Given the description of an element on the screen output the (x, y) to click on. 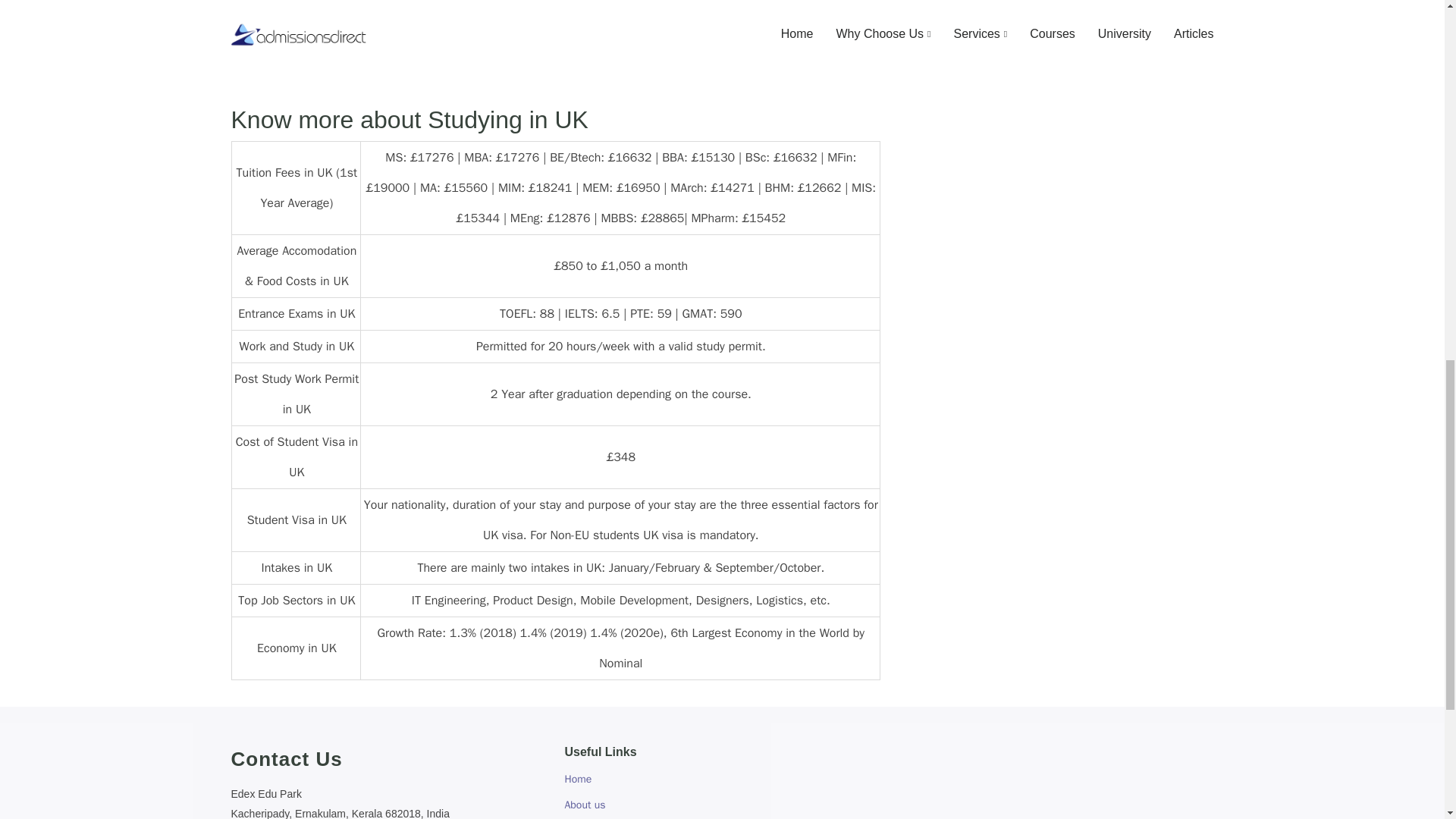
Home (577, 778)
Contact Us (388, 758)
About us (584, 805)
